Given the description of an element on the screen output the (x, y) to click on. 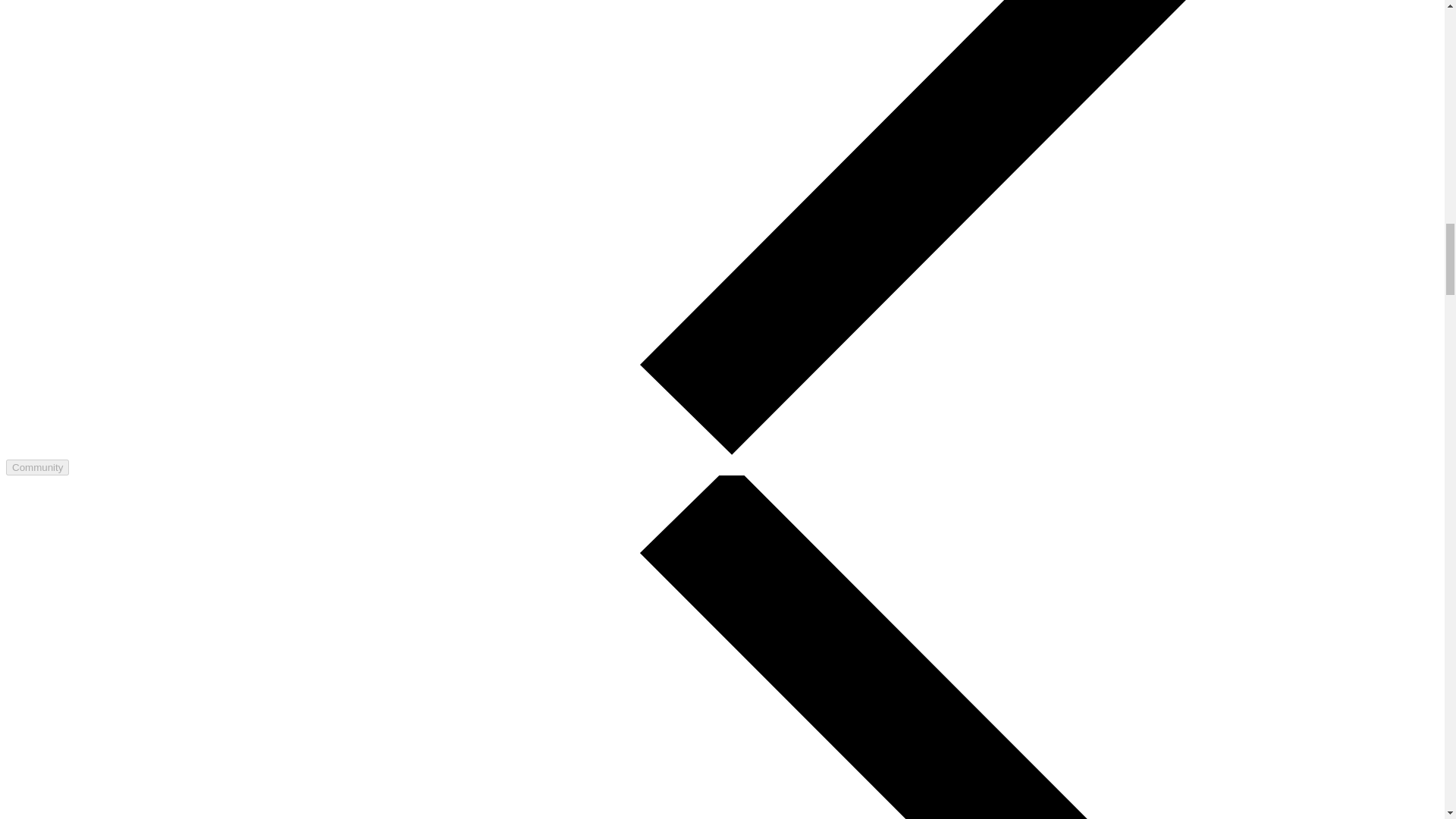
Community (36, 467)
